Given the description of an element on the screen output the (x, y) to click on. 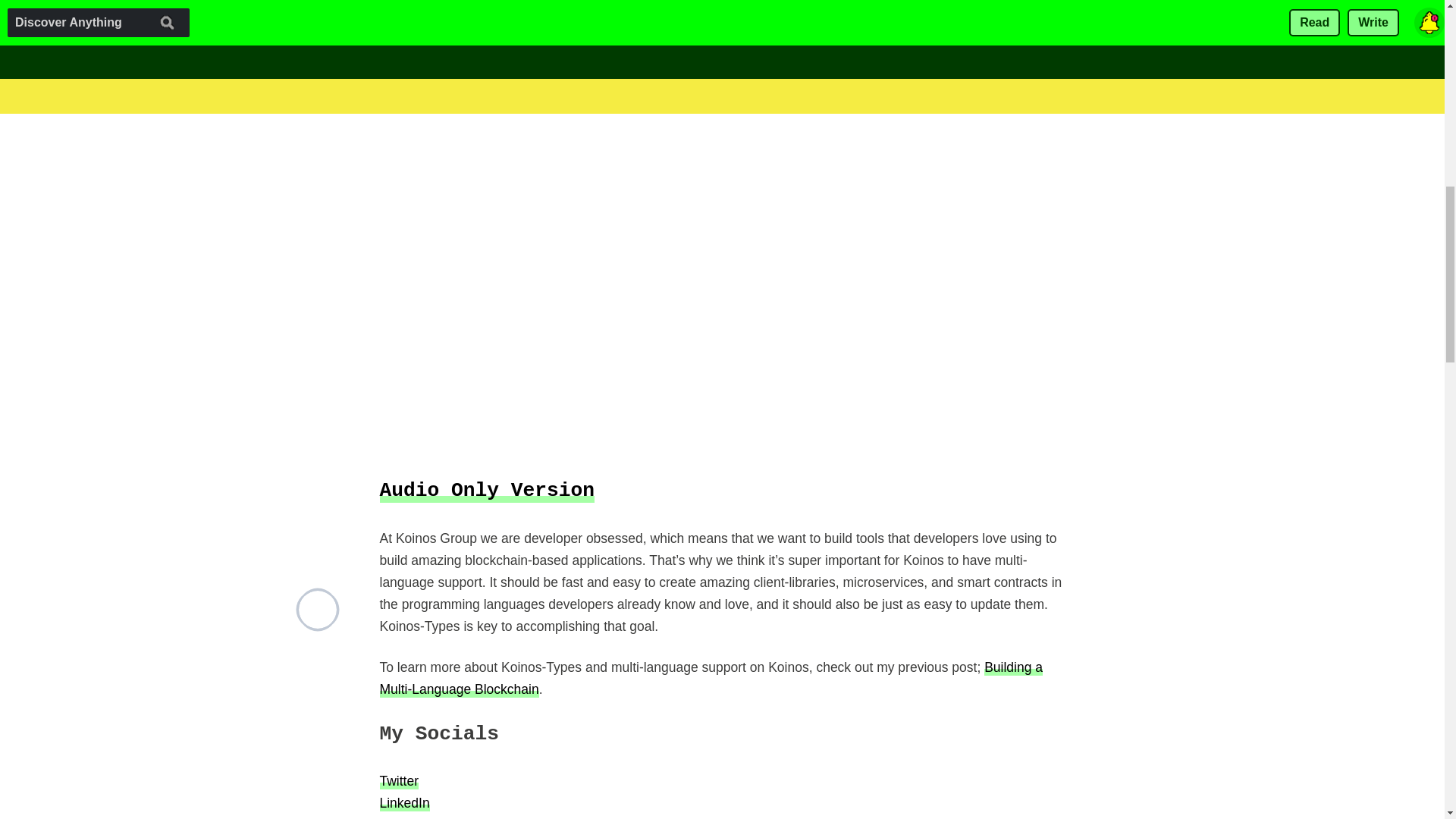
Audio Only Version (486, 489)
Building a Multi-Language Blockchain (710, 677)
Twitter (398, 780)
LinkedIn (403, 802)
